Given the description of an element on the screen output the (x, y) to click on. 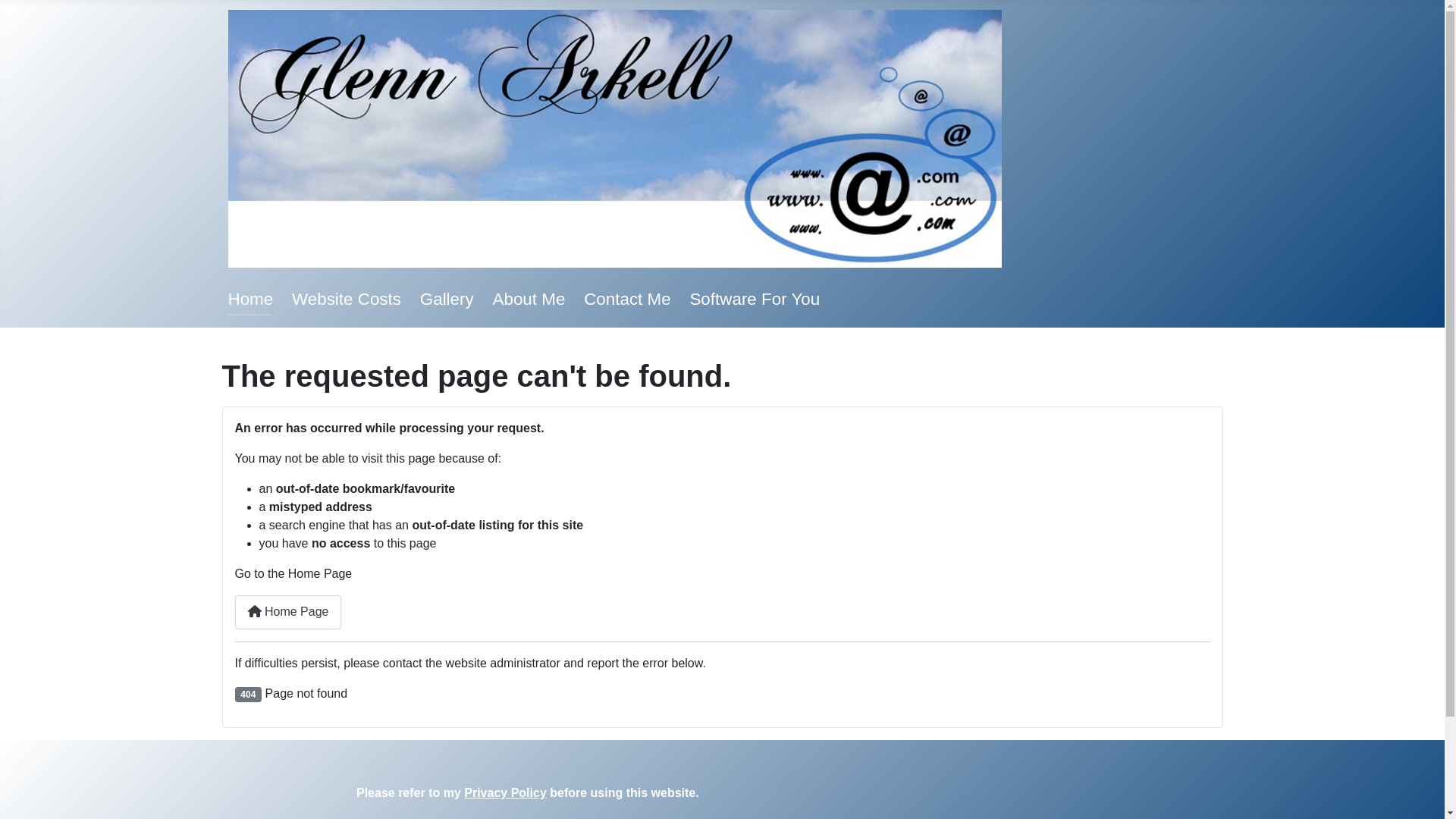
Privacy Policy Element type: text (505, 792)
Contact Me Element type: text (627, 298)
Home Page Element type: text (288, 612)
Gallery Element type: text (446, 298)
About Me Element type: text (528, 298)
Website Costs Element type: text (346, 298)
Software For You Element type: text (754, 298)
Home Element type: text (250, 298)
